Given the description of an element on the screen output the (x, y) to click on. 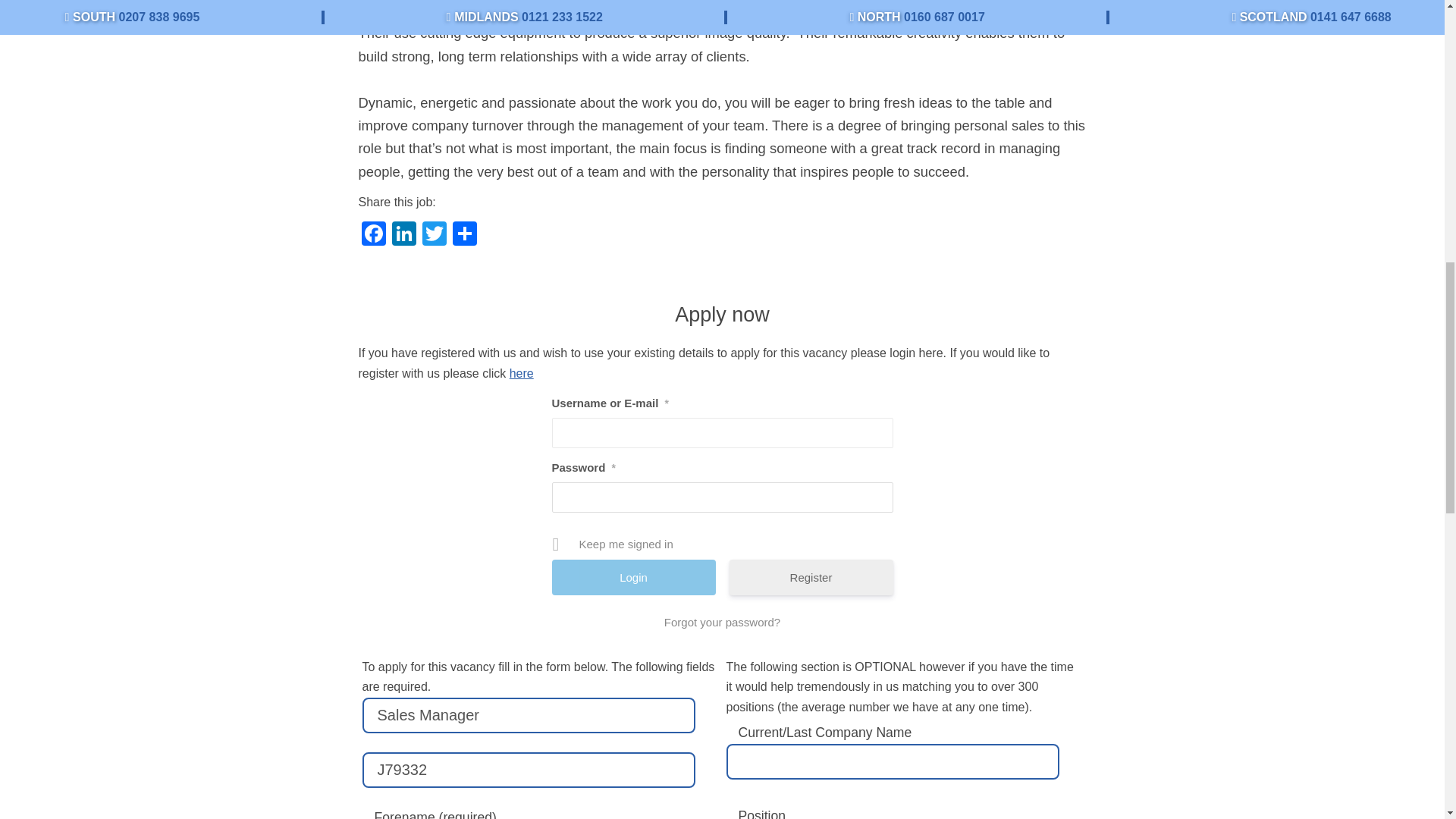
Register (811, 577)
Sales Manager (528, 715)
Twitter (433, 235)
Login (633, 577)
LinkedIn (403, 235)
Facebook (373, 235)
Twitter (433, 235)
Facebook (373, 235)
Login (633, 577)
here (521, 373)
